Given the description of an element on the screen output the (x, y) to click on. 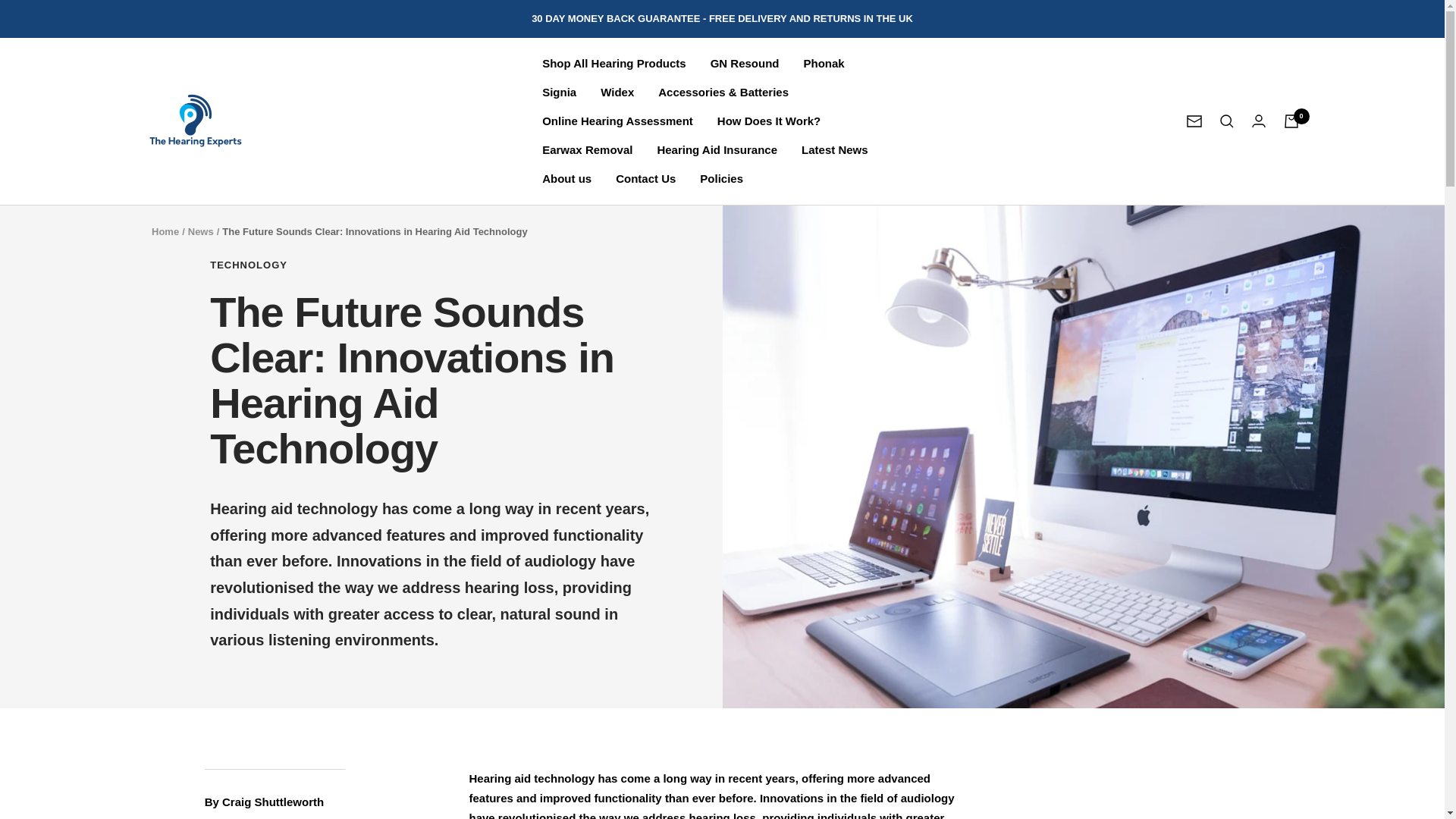
Online Hearing Assessment (617, 121)
Policies (721, 178)
Earwax Removal (586, 149)
Widex (616, 92)
GN Resound (744, 63)
0 (1291, 120)
Latest News (834, 149)
Hearing Aid Insurance (716, 149)
Newsletter (1194, 121)
Shop All Hearing Products (613, 63)
About us (566, 178)
How Does It Work? (769, 121)
Phonak (823, 63)
Signia (558, 92)
The Hearing Experts (194, 120)
